Given the description of an element on the screen output the (x, y) to click on. 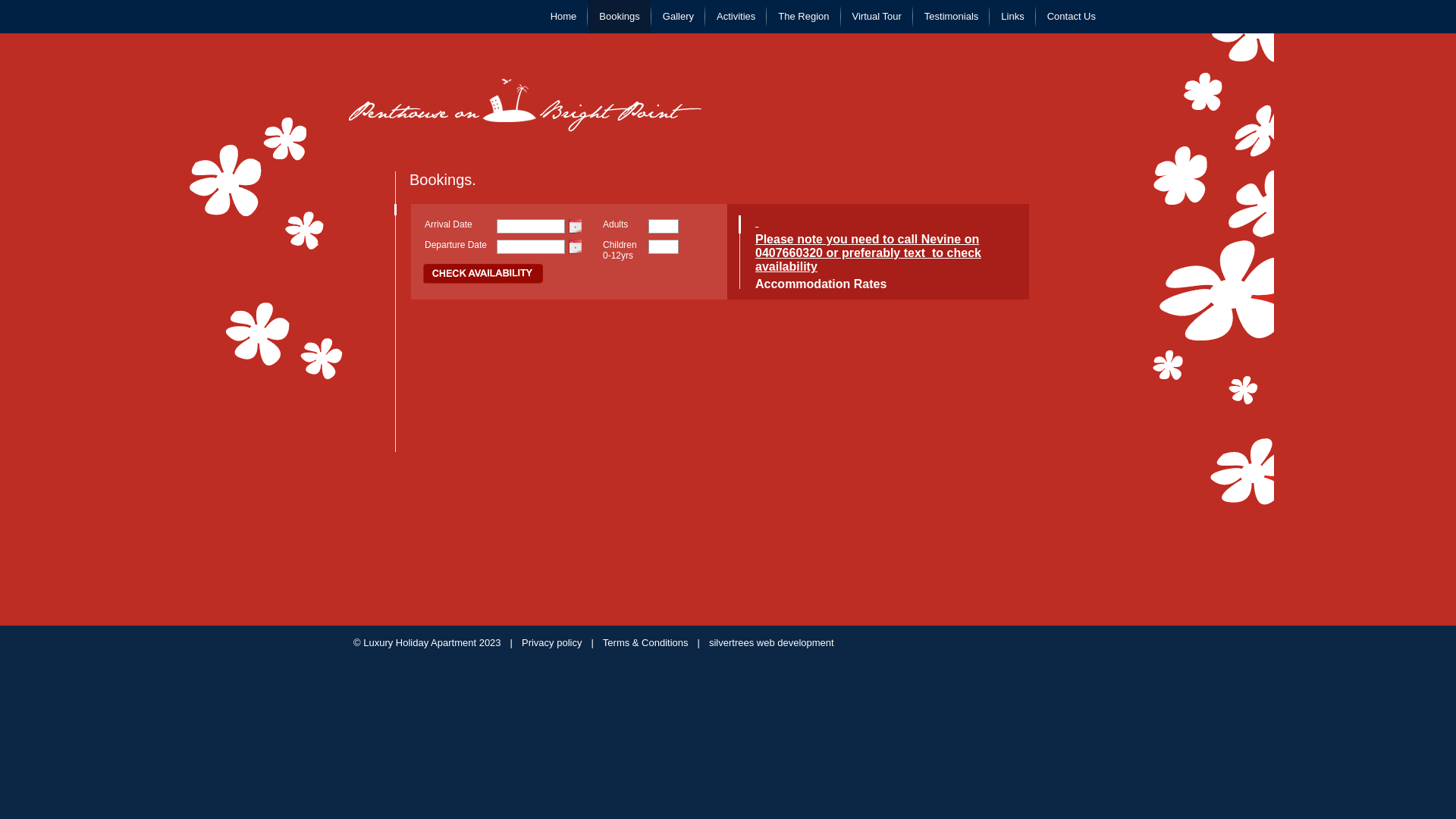
The Region Element type: text (803, 16)
Links Element type: text (1012, 16)
Virtual Tour Element type: text (876, 16)
Testimonials Element type: text (951, 16)
Terms & Conditions Element type: text (645, 642)
silvertrees web development Element type: text (771, 642)
Privacy policy Element type: text (551, 642)
Penthouse on Bright Point Element type: text (524, 104)
Gallery Element type: text (678, 16)
Bookings Element type: text (618, 16)
Home Element type: text (563, 16)
Contact Us Element type: text (1071, 16)
Activities Element type: text (735, 16)
